Given the description of an element on the screen output the (x, y) to click on. 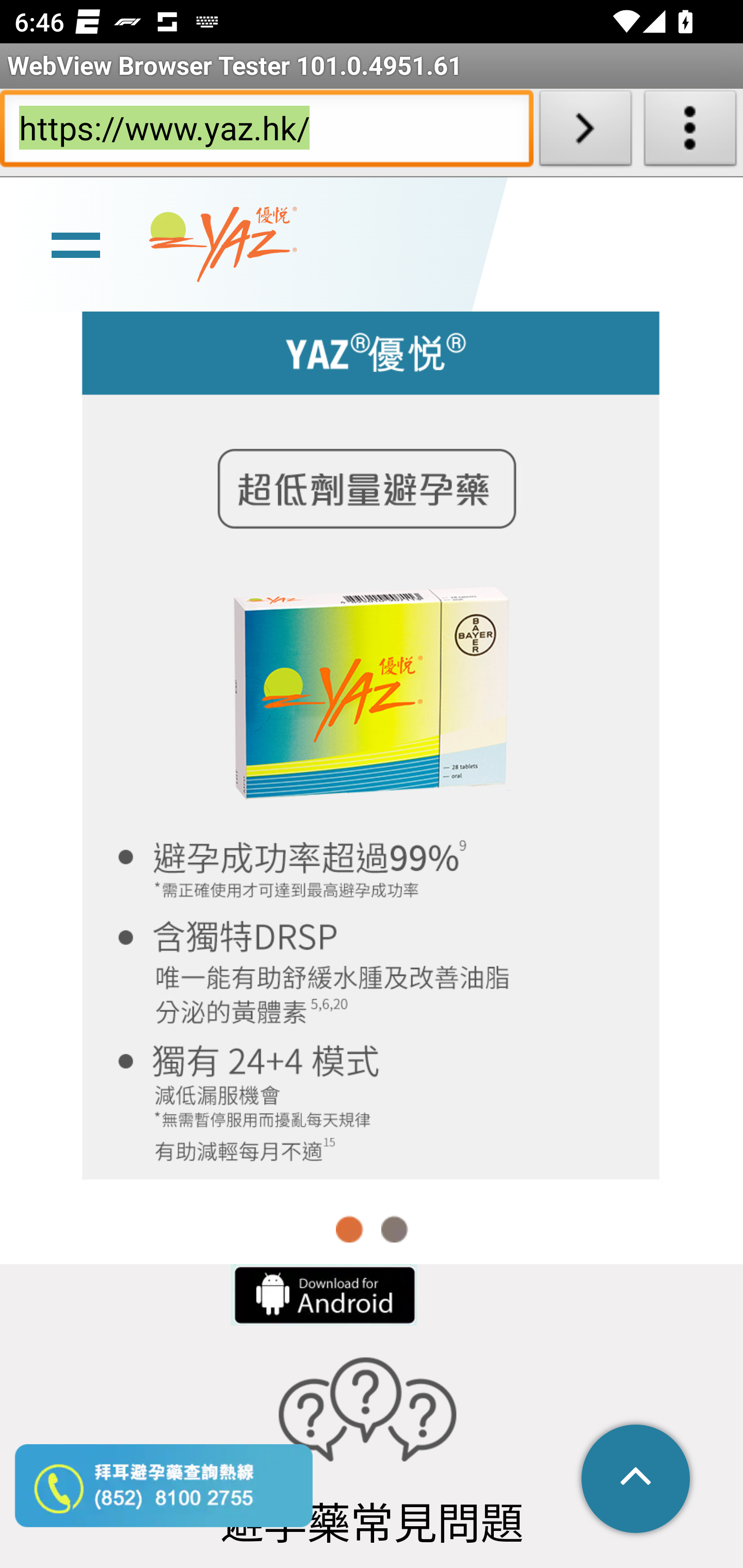
https://www.yaz.hk/ (266, 132)
Load URL (585, 132)
About WebView (690, 132)
www.yaz (222, 244)
line Toggle burger menu (75, 243)
slide 1 (371, 740)
1 of 2 (349, 1229)
2 of 2 (393, 1229)
details?id=com.bayer.ph (322, 1294)
 (636, 1480)
